Given the description of an element on the screen output the (x, y) to click on. 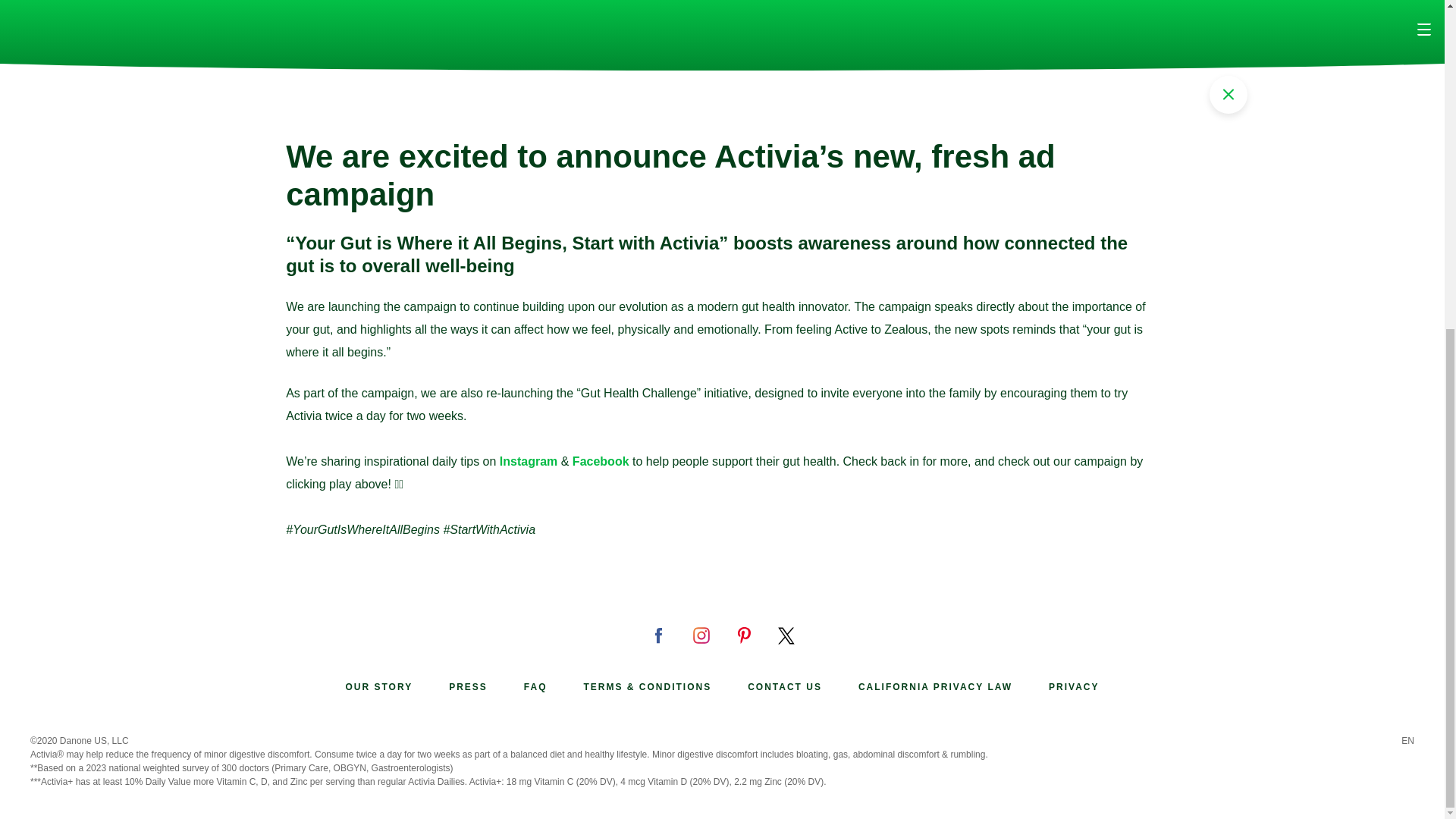
Facebook (601, 461)
FAQ (535, 687)
Terms and Conditions (647, 687)
FAQ (535, 687)
Instagram  (529, 461)
Press (467, 687)
Privacy (1073, 687)
California Privacy Law (935, 687)
CONTACT US (785, 687)
Our Story (378, 687)
